Given the description of an element on the screen output the (x, y) to click on. 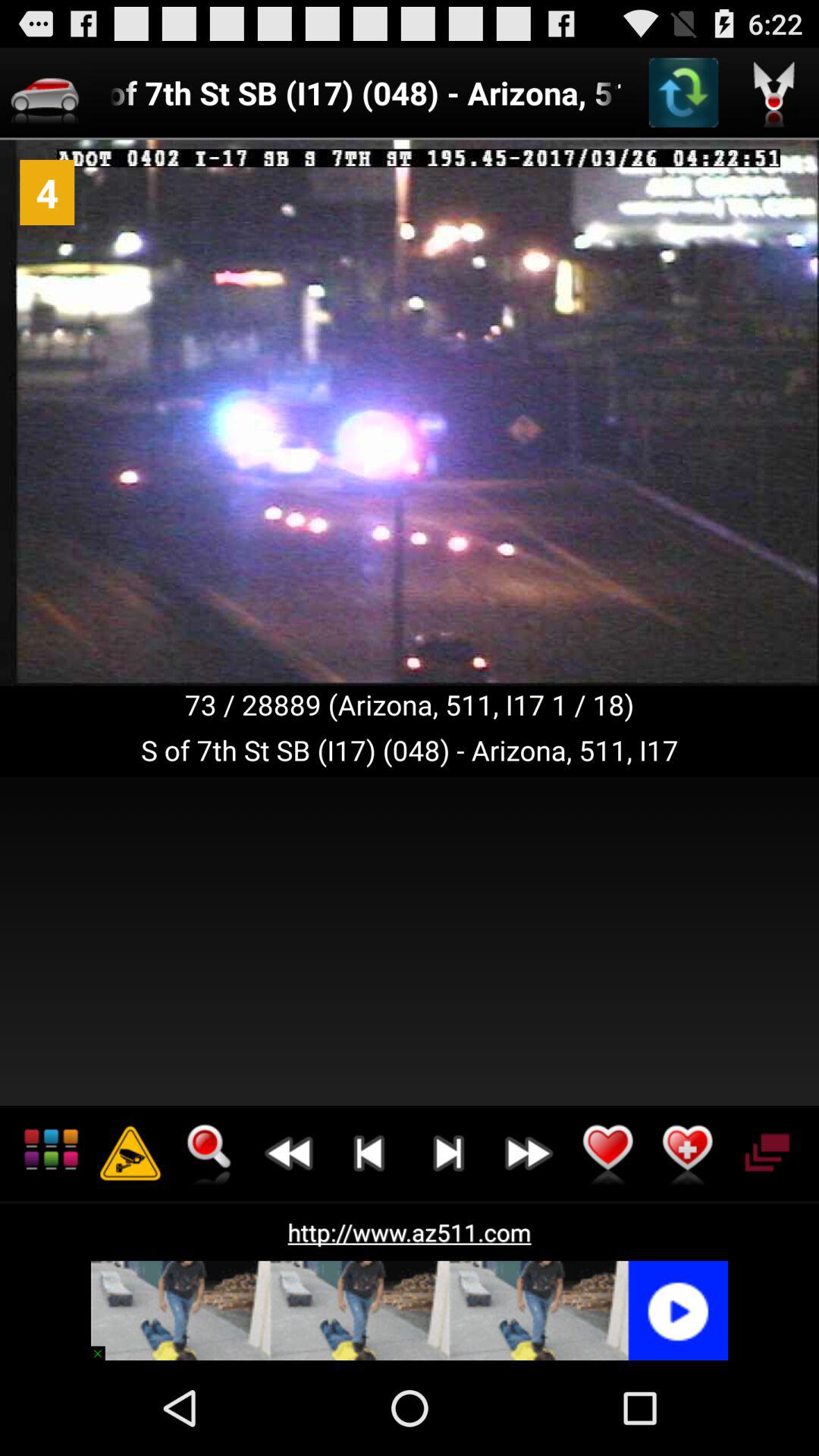
jump to http www az511 item (409, 1231)
